Given the description of an element on the screen output the (x, y) to click on. 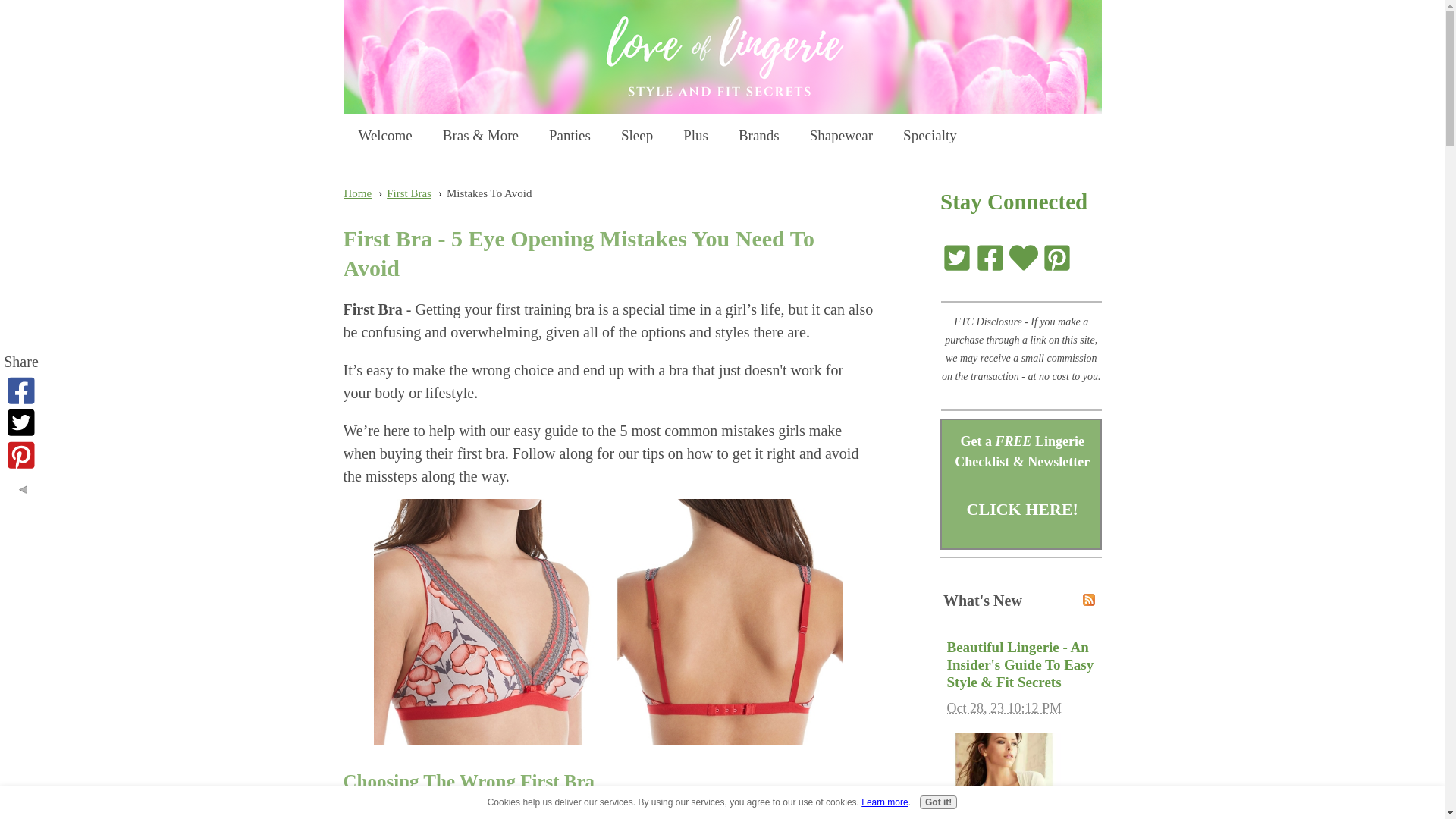
Contact us (1024, 255)
first bra (608, 621)
Shapewear (841, 131)
2023-10-28T22:12:55-0400 (1003, 708)
